Given the description of an element on the screen output the (x, y) to click on. 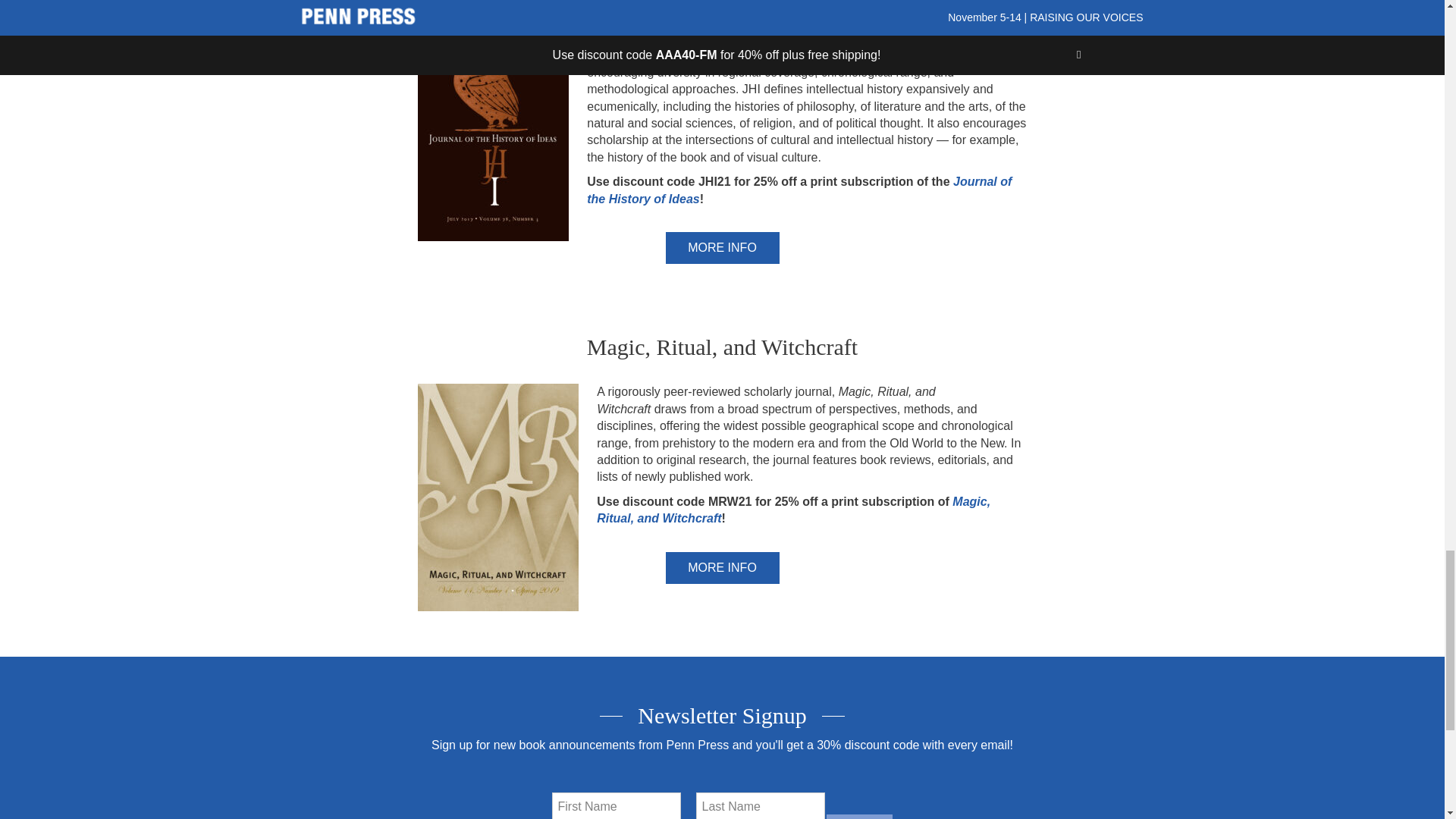
Subscribe (859, 816)
MORE INFO (721, 567)
Magic, Ritual, and Witchcraft (793, 509)
Journal of the History of Ideas (798, 189)
MORE INFO (721, 247)
